Given the description of an element on the screen output the (x, y) to click on. 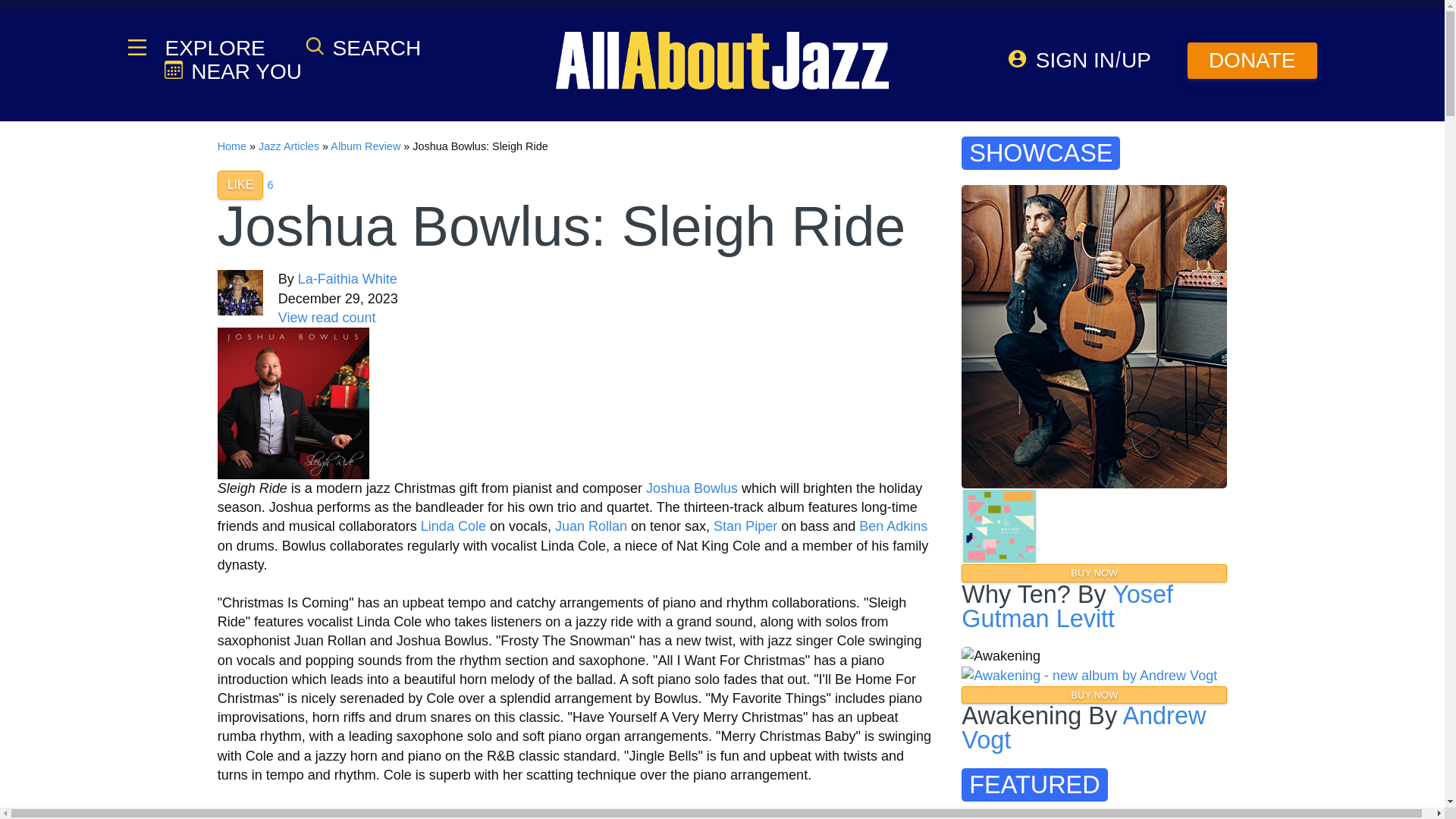
DONATE (1252, 60)
Joshua Bowlus: Sleigh Ride (292, 403)
Stan Piper (745, 525)
NEAR YOU (232, 71)
Juan Rollan (590, 525)
Album Review (365, 146)
Linda Cole (453, 525)
View jazz concerts near you (232, 71)
Article Center (288, 146)
Click Here to Return to the All About Jazz Home Page (231, 146)
Welcome to All About Jazz! (722, 59)
Ben Adkins (893, 525)
Home (231, 146)
Explore the vast grandeur of All About Jazz (212, 47)
Joshua Bowlus (692, 488)
